Given the description of an element on the screen output the (x, y) to click on. 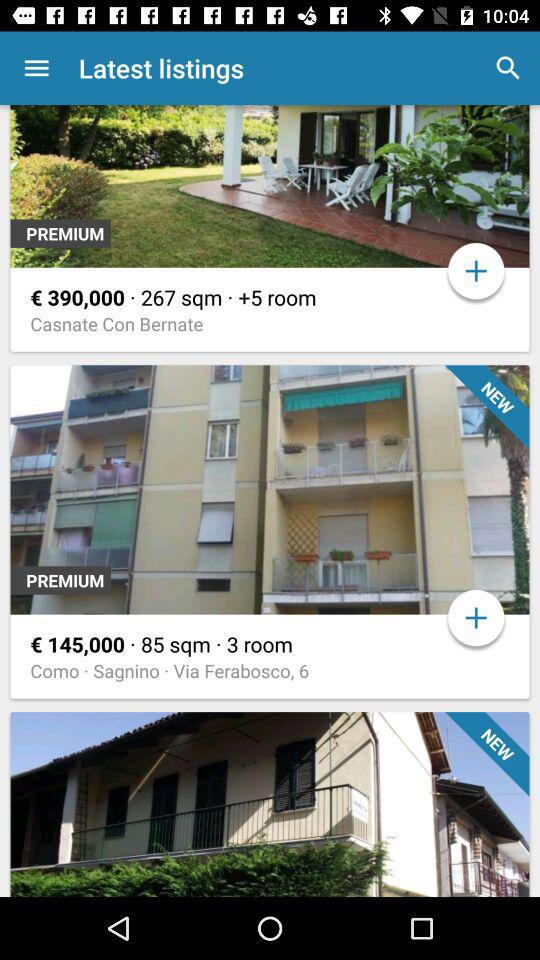
choose item to the right of latest listings app (508, 67)
